Given the description of an element on the screen output the (x, y) to click on. 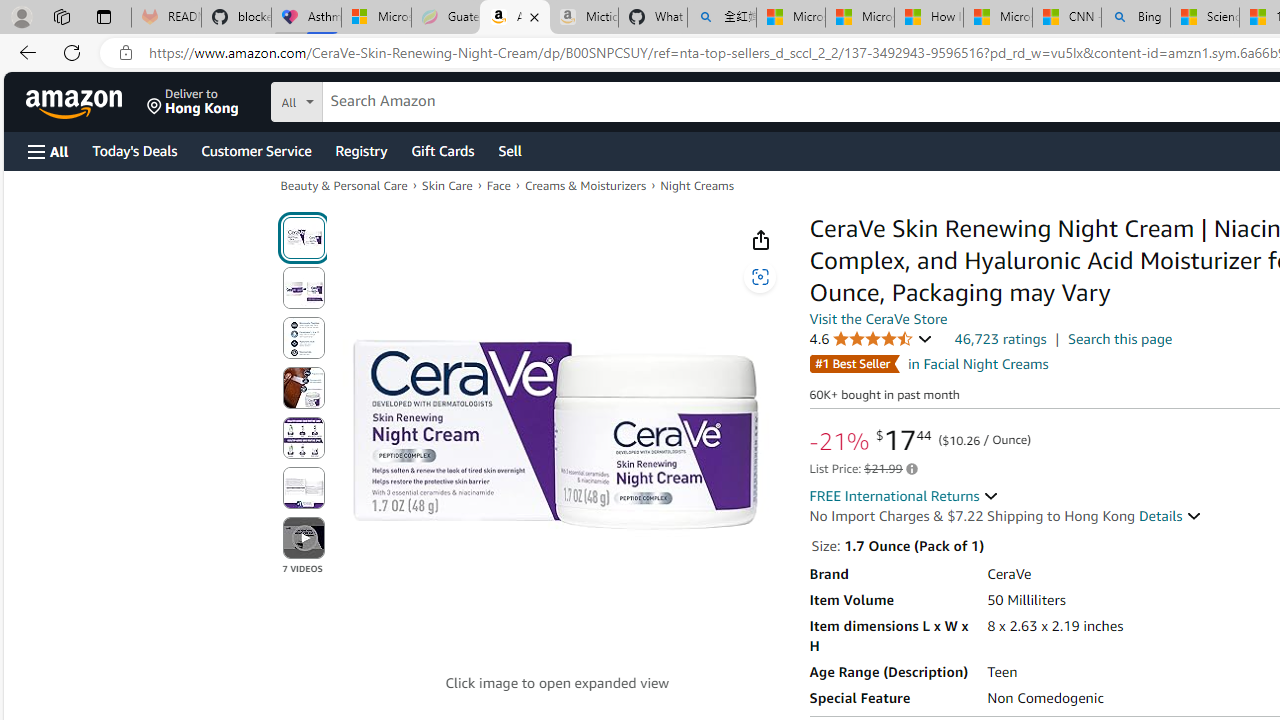
Night Creams (696, 184)
46,723 ratings (1000, 338)
Today's Deals (134, 150)
Night Creams (696, 185)
